Given the description of an element on the screen output the (x, y) to click on. 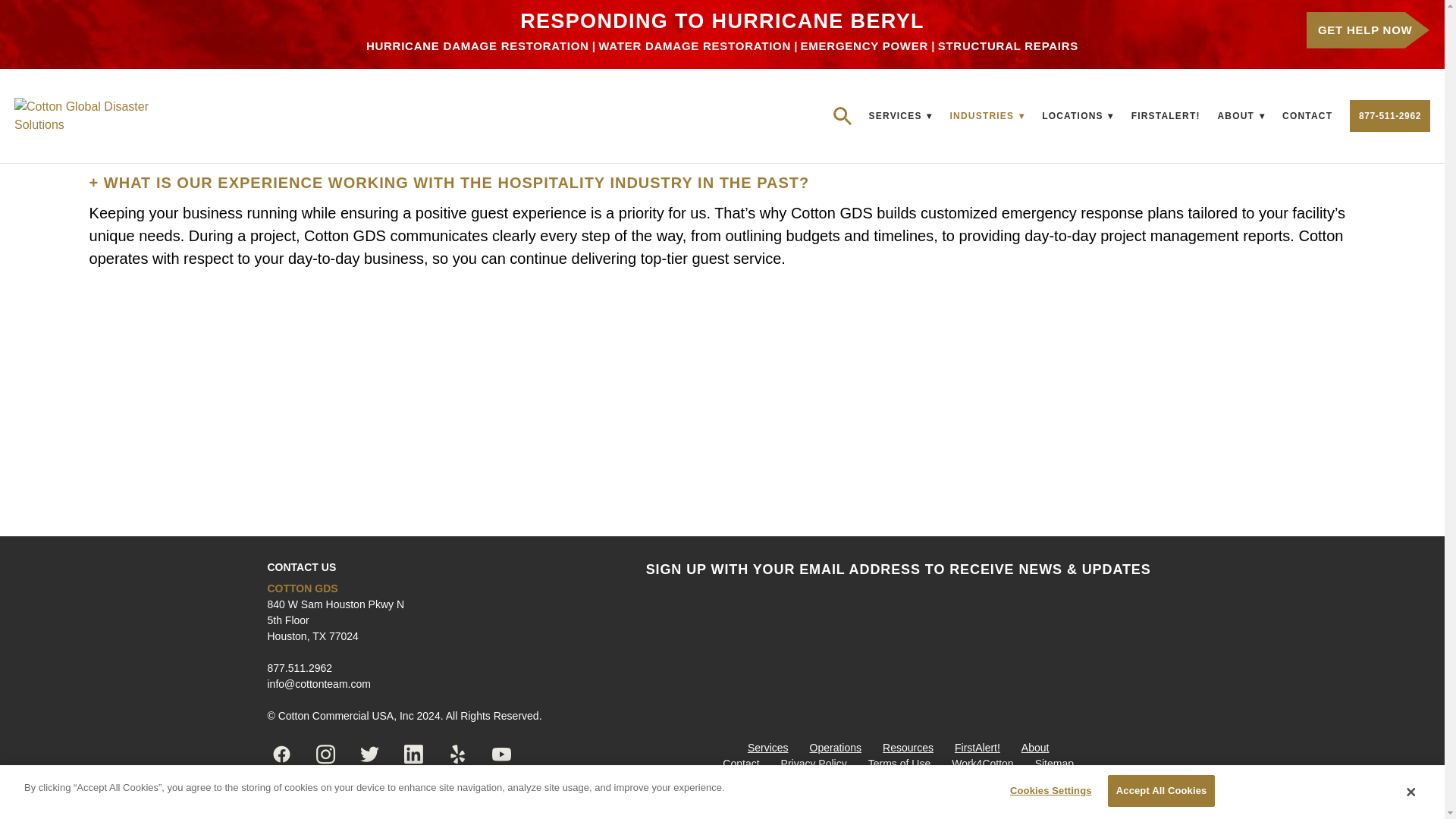
Cotton Global Disaster Solutions (96, 115)
Form 0 (899, 646)
STRUCTURAL REPAIRS (1007, 46)
WATER DAMAGE RESTORATION (694, 46)
EMERGENCY POWER (864, 46)
HURRICANE DAMAGE RESTORATION (477, 46)
GET HELP NOW (1367, 30)
